Given the description of an element on the screen output the (x, y) to click on. 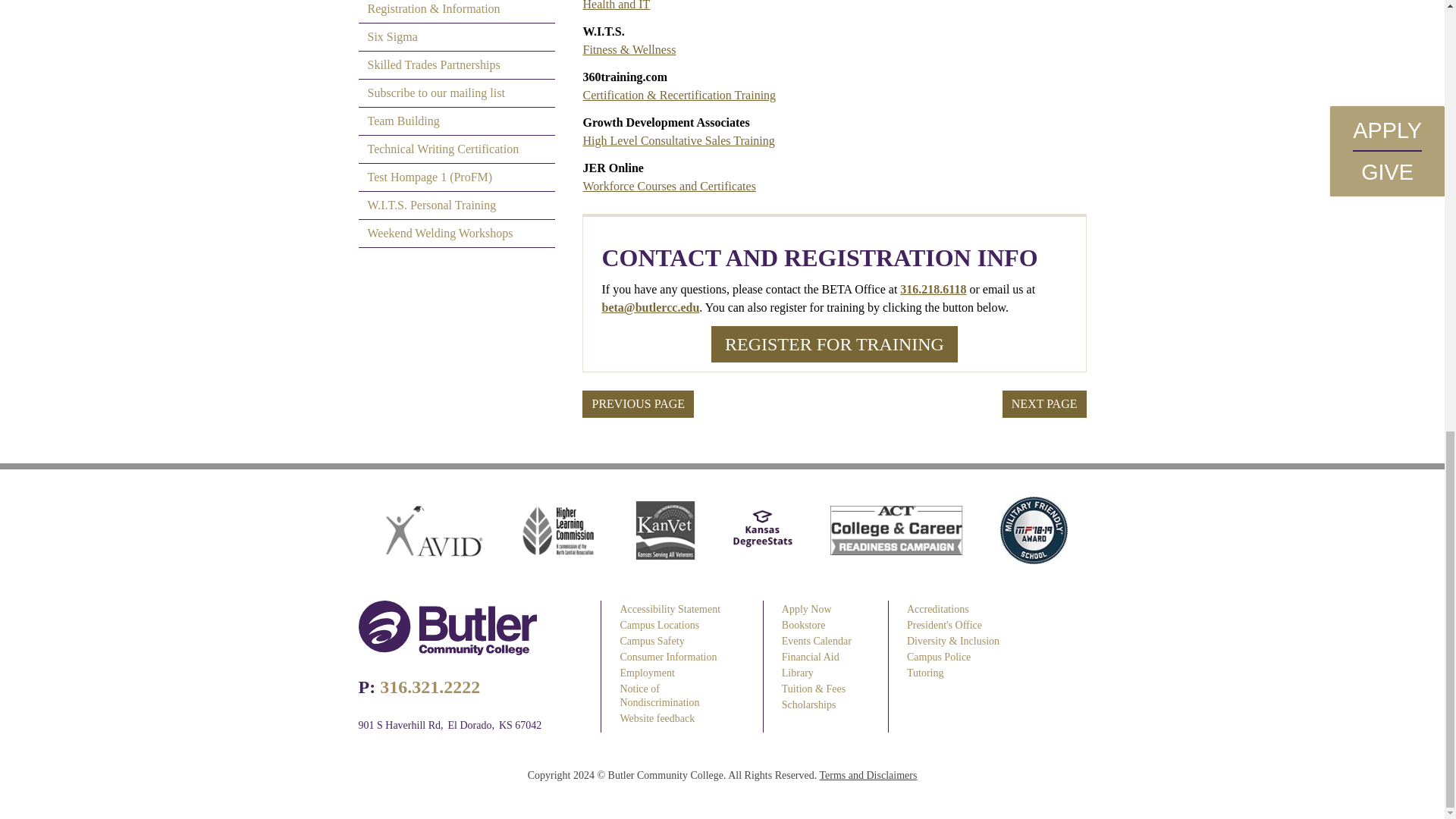
316.218.6118 (932, 288)
High Level Consultative Sales Training (678, 140)
MedCerts (615, 5)
JER Online (668, 185)
W.I.T.S. (628, 49)
